Given the description of an element on the screen output the (x, y) to click on. 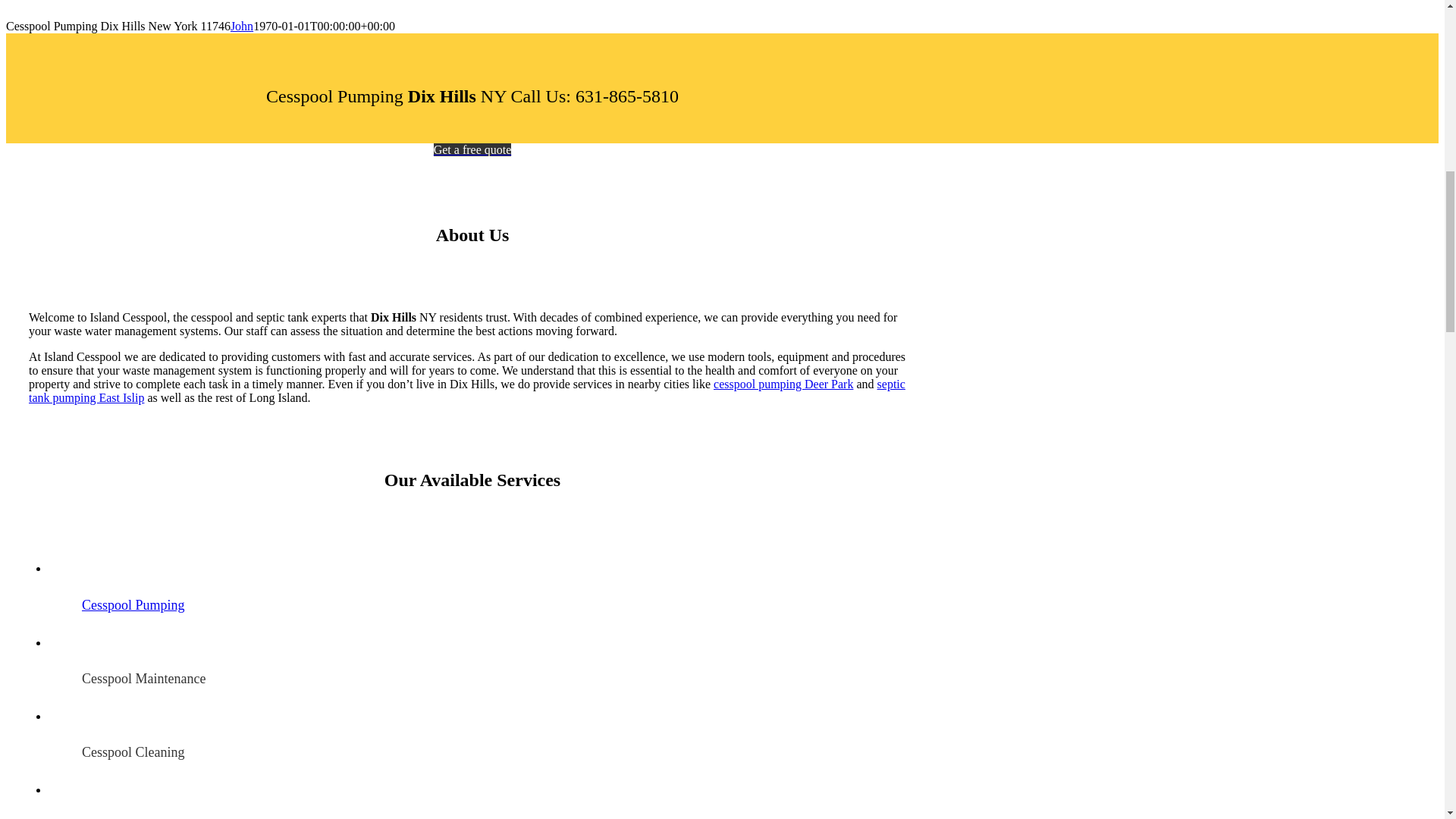
Posts by John (241, 25)
John (241, 25)
septic tank pumping East Islip (467, 390)
cesspool pumping Deer Park (783, 383)
Cesspool Pumping Deer Park New York 11729 (783, 383)
Get a free quote (472, 149)
Cesspool Pumping (132, 604)
Cesspool Pumping East Islip New York 11730 (467, 390)
